Given the description of an element on the screen output the (x, y) to click on. 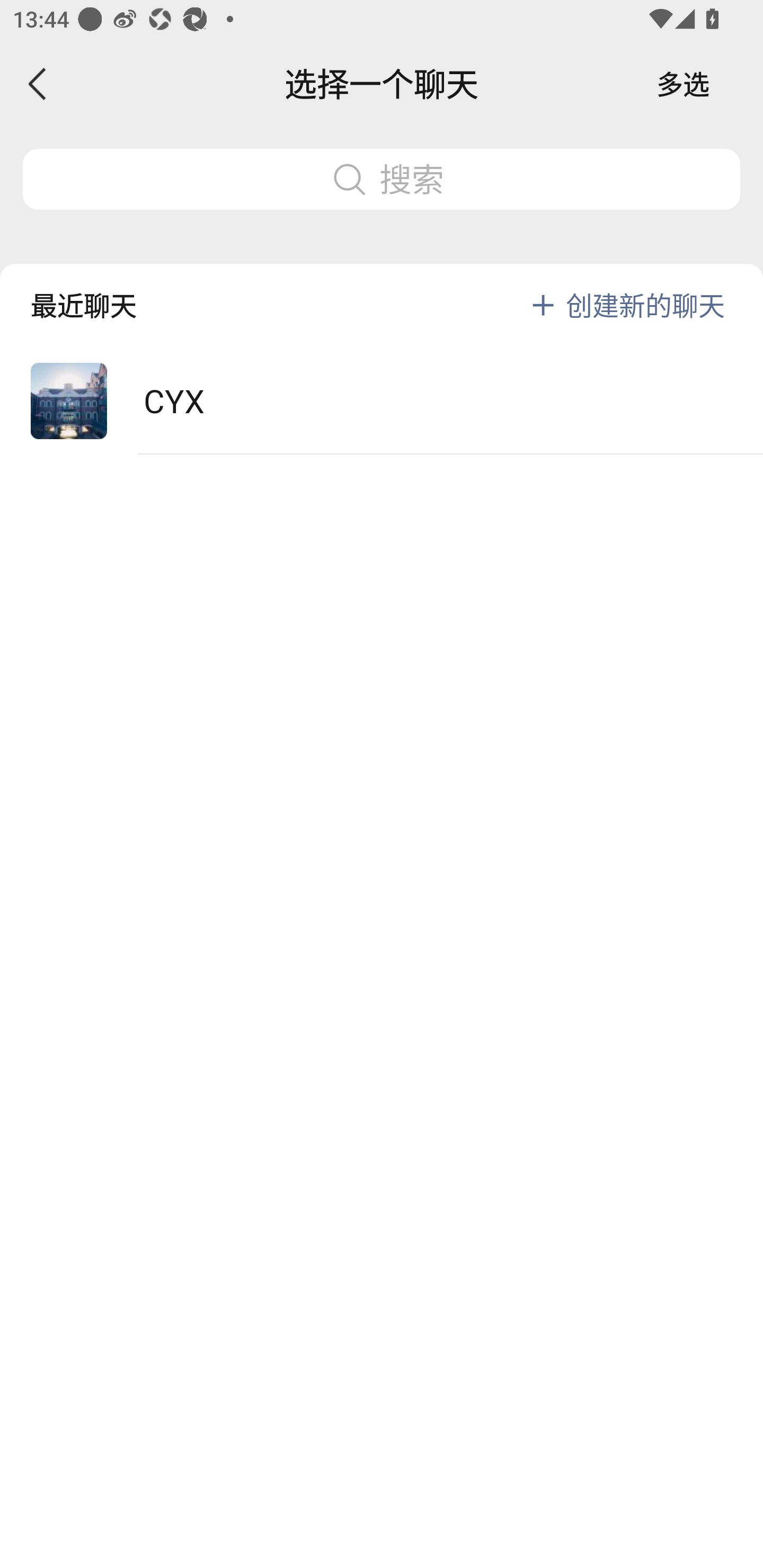
返回 (38, 83)
多选 (683, 83)
创建新的聊天 (645, 304)
CYX (381, 401)
